Given the description of an element on the screen output the (x, y) to click on. 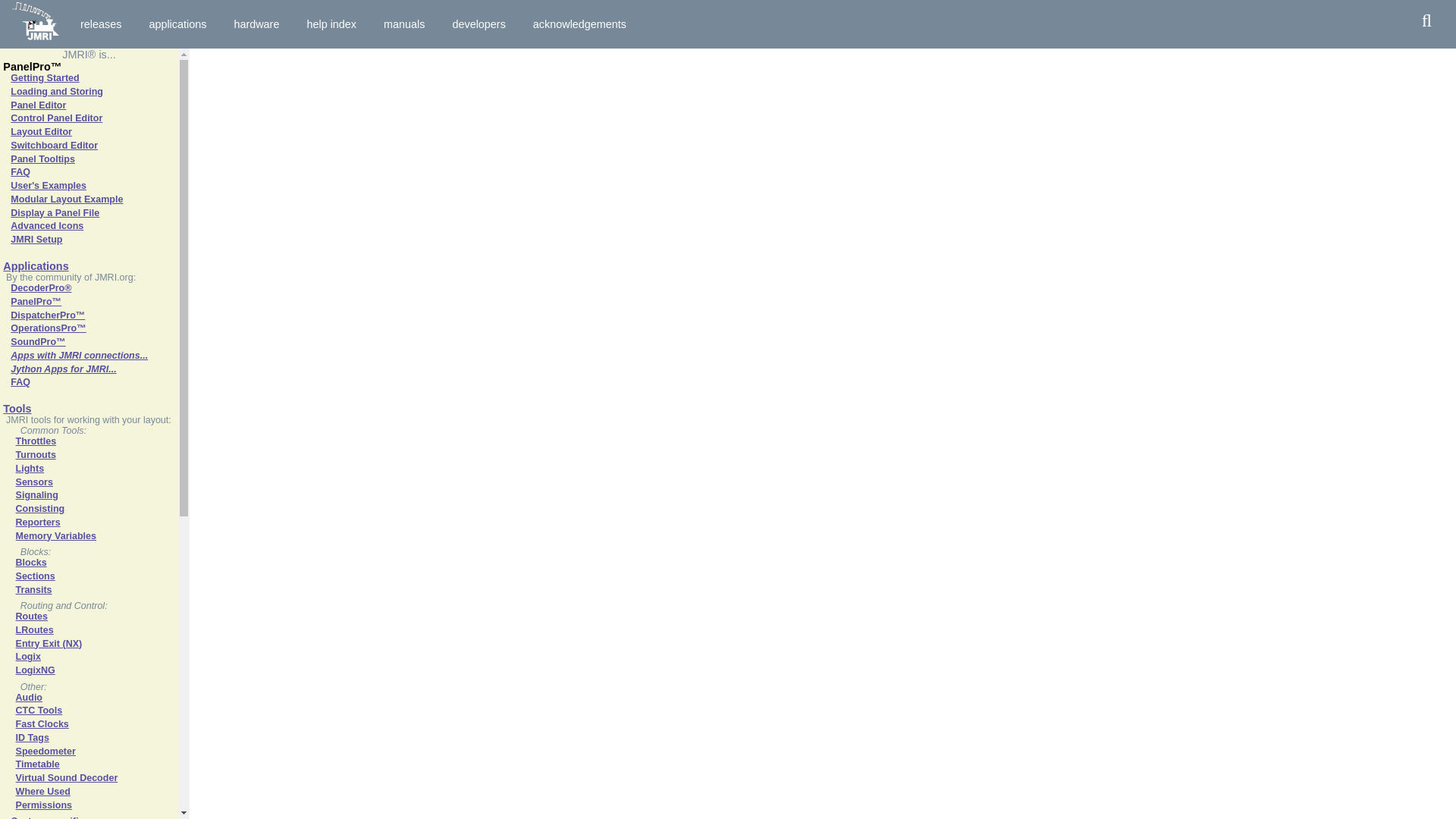
Developing and extending JMRI (478, 24)
What hardware does JMRI support (255, 24)
manuals (404, 24)
JMRI Help Screens (330, 24)
Who is JMRI (579, 24)
developers (478, 24)
releases (100, 24)
Learn about JMRI applications (177, 24)
JMRI Manuals (404, 24)
help index (330, 24)
